Given the description of an element on the screen output the (x, y) to click on. 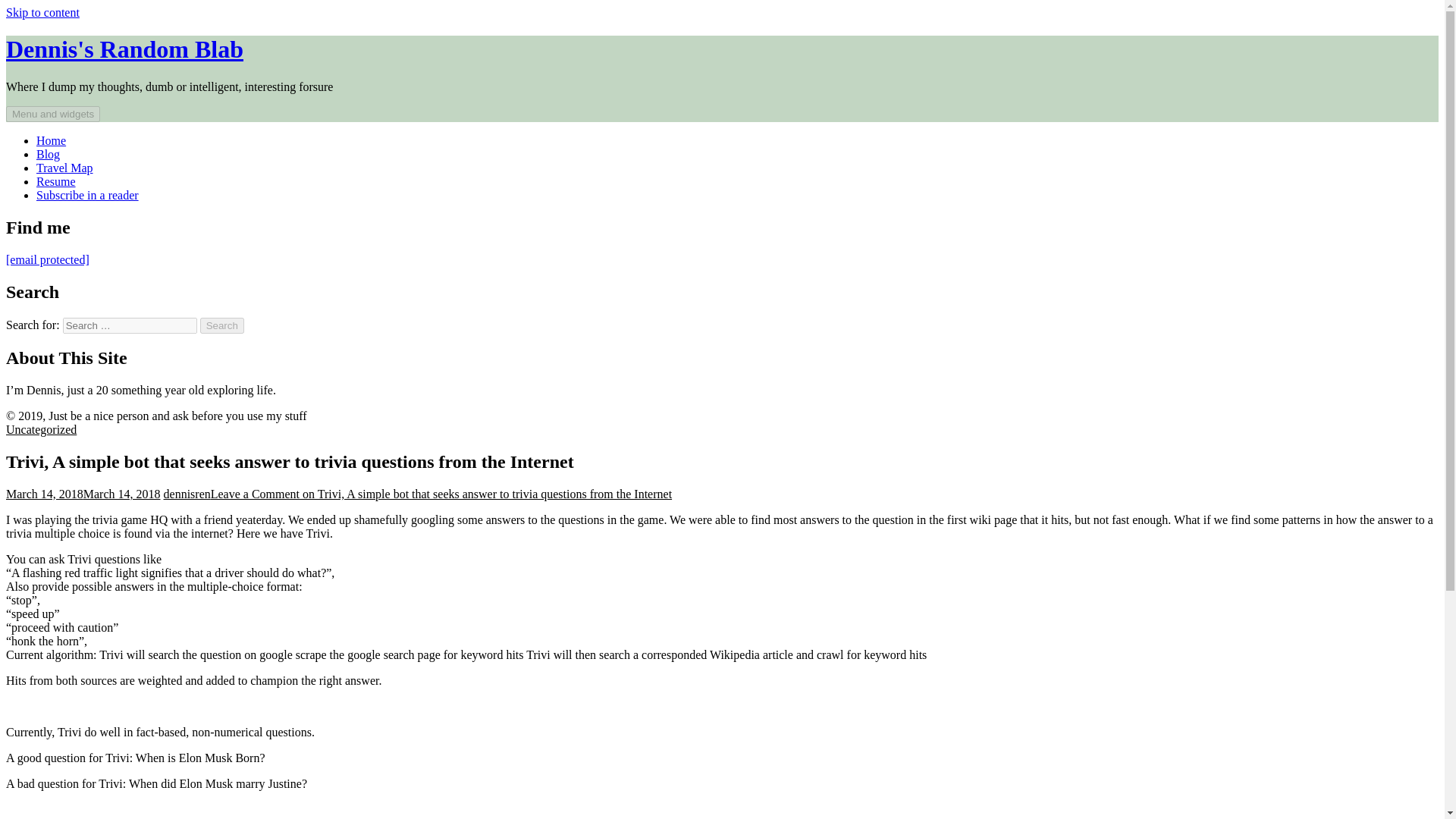
Search (222, 324)
March 14, 2018March 14, 2018 (82, 493)
Blog (47, 154)
Dennis's Random Blab (124, 49)
Travel Map (64, 167)
Subscribe in a reader (87, 195)
Menu and widgets (52, 114)
dennisren (187, 493)
Search (222, 324)
Search (222, 324)
Skip to content (42, 11)
Subscribe to my feed (87, 195)
Home (50, 140)
Resume (55, 181)
